Given the description of an element on the screen output the (x, y) to click on. 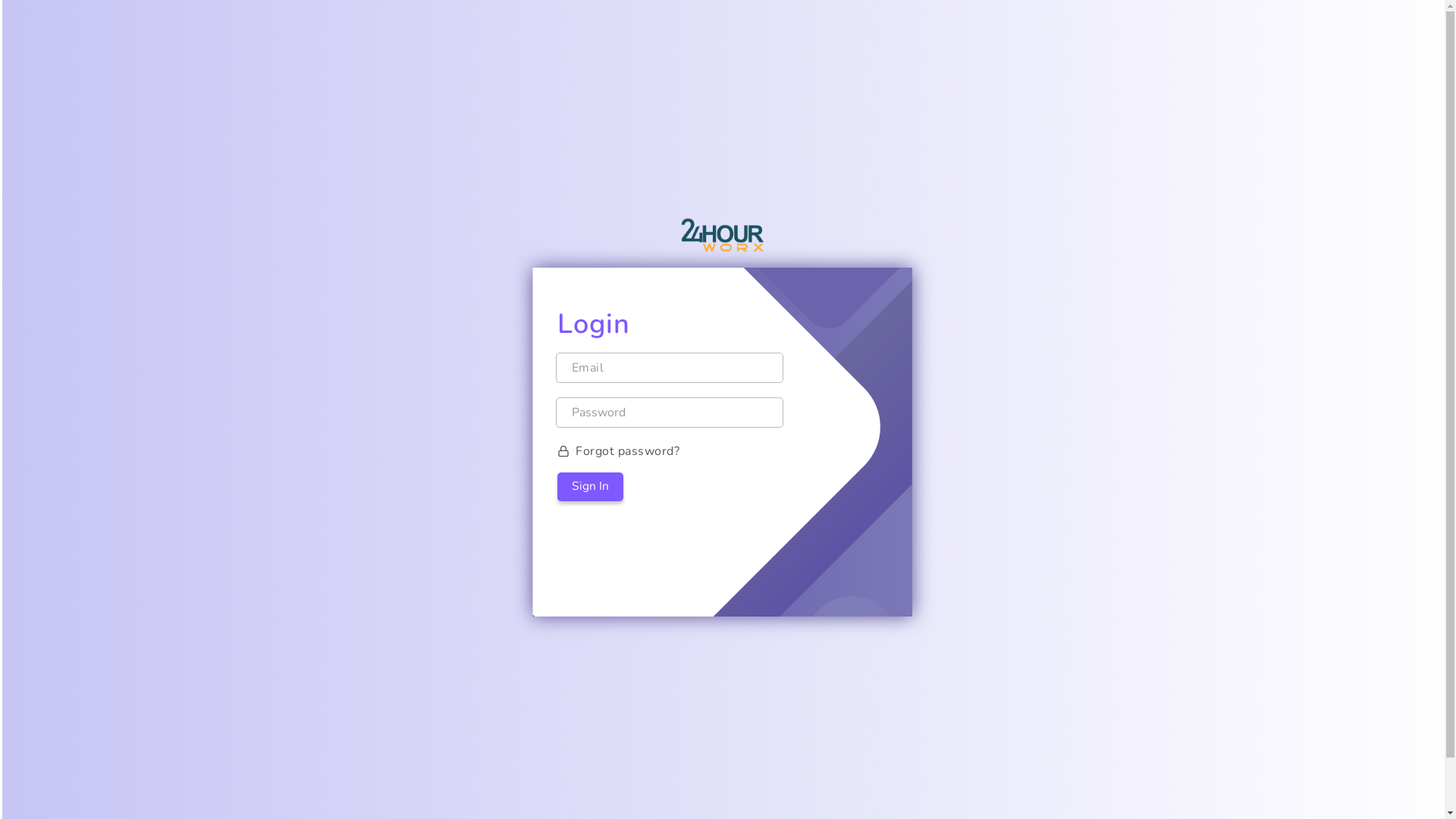
Forgot password? Element type: text (722, 451)
Sign In Element type: text (590, 486)
